Given the description of an element on the screen output the (x, y) to click on. 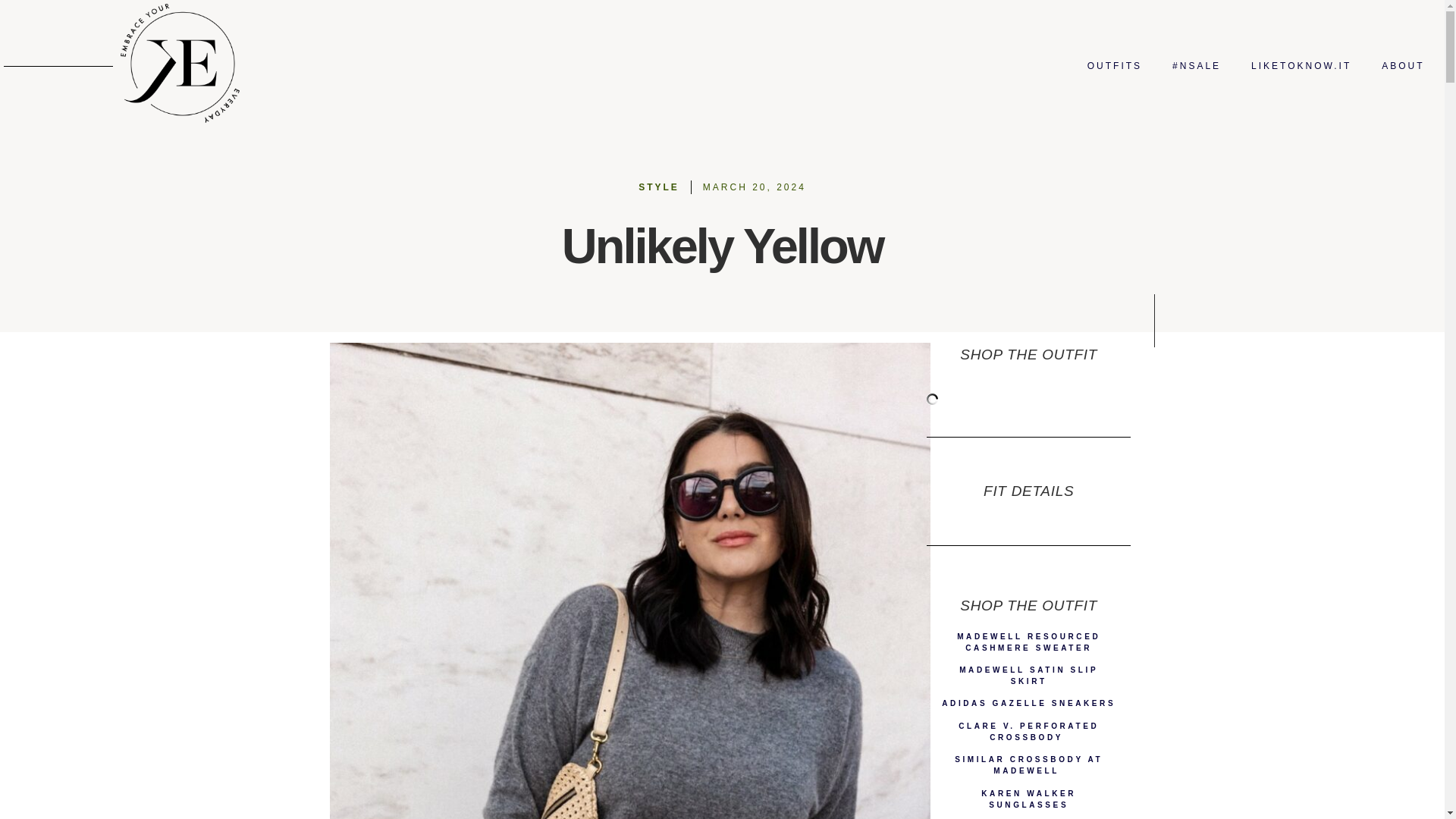
MADEWELL RESOURCED CASHMERE SWEATER (1028, 641)
ABOUT (1403, 65)
LIKETOKNOW.IT (1301, 65)
ADIDAS GAZELLE SNEAKERS (1028, 703)
MADEWELL SATIN SLIP SKIRT (1028, 675)
KAREN WALKER SUNGLASSES (1028, 799)
Unlikely Yellow (722, 245)
STYLE (659, 186)
CLARE V. PERFORATED CROSSBODY  (1028, 731)
OUTFITS (1114, 65)
